Given the description of an element on the screen output the (x, y) to click on. 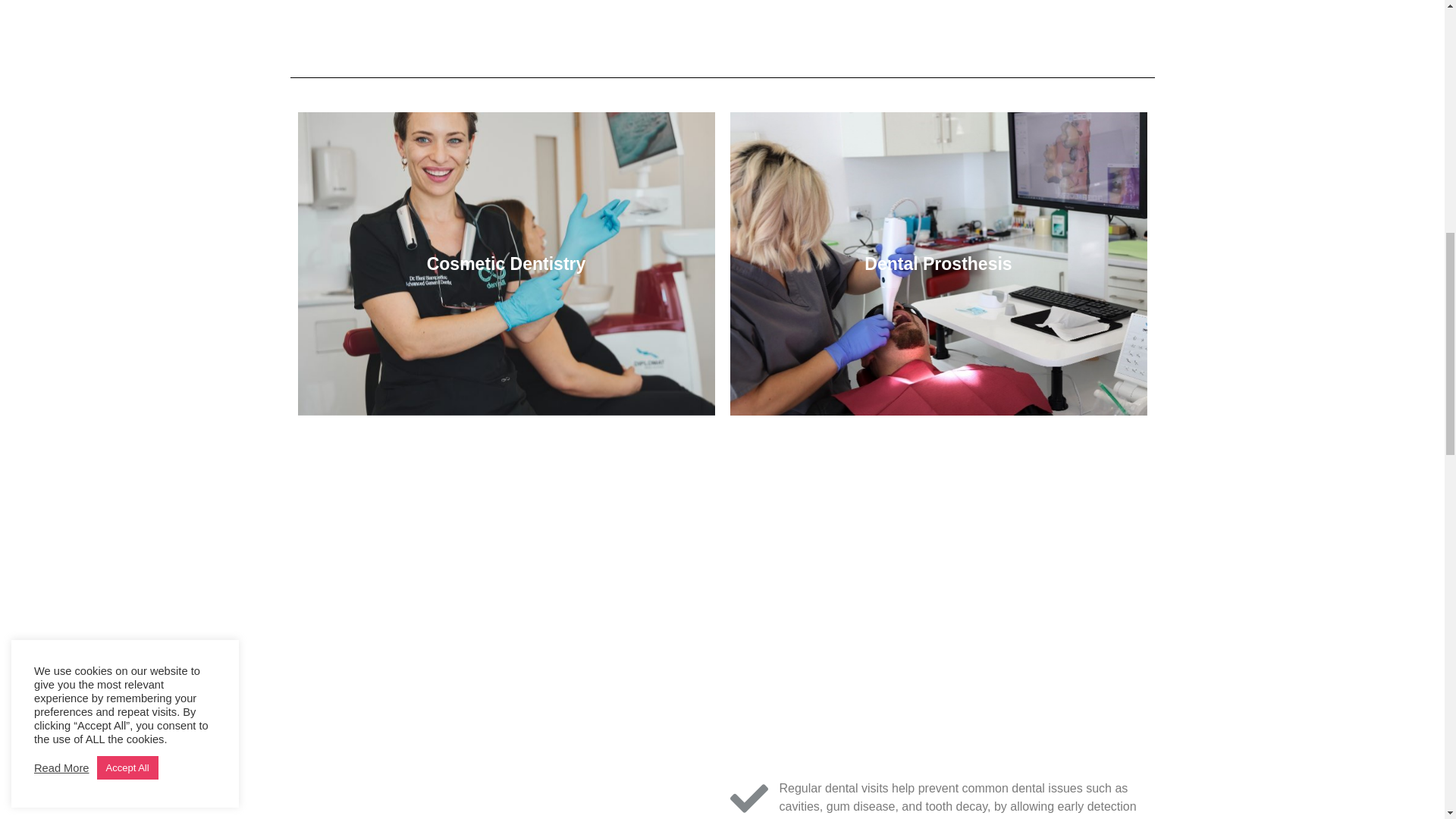
Laser Treatments (505, 597)
Dental Prosthesis (938, 263)
Restorative Dentistry (938, 597)
Preventive Dentisty (505, 799)
Cosmetic Dentistry (505, 263)
